Given the description of an element on the screen output the (x, y) to click on. 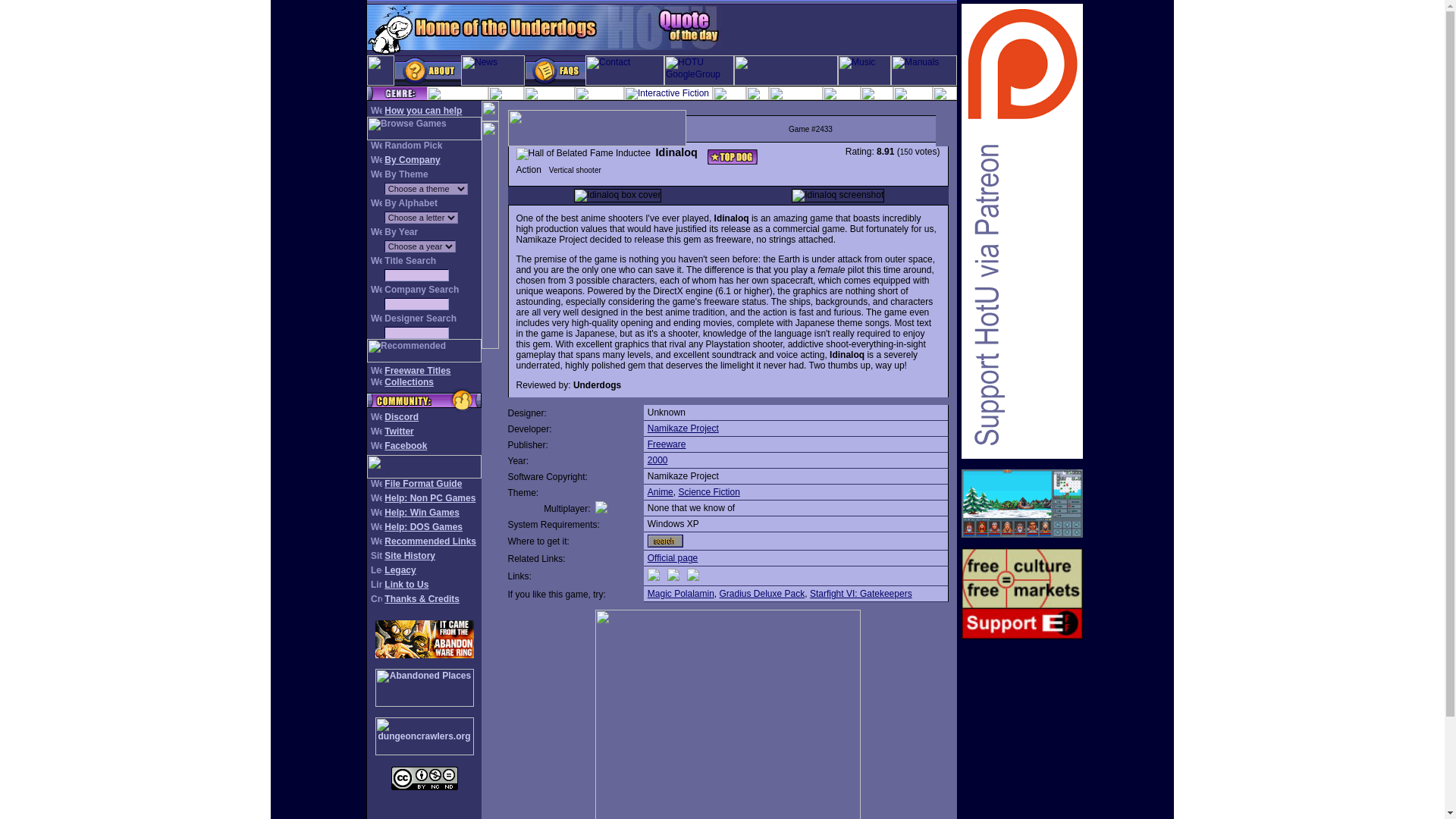
Help: Non PC Games (430, 498)
Twitter (398, 430)
Facebook (405, 445)
Help: DOS Games (423, 526)
Help: Win Games (422, 511)
Discord (401, 416)
Recommended Links (430, 541)
How you can help (422, 110)
File Format Guide (422, 483)
Site History (409, 555)
